Given the description of an element on the screen output the (x, y) to click on. 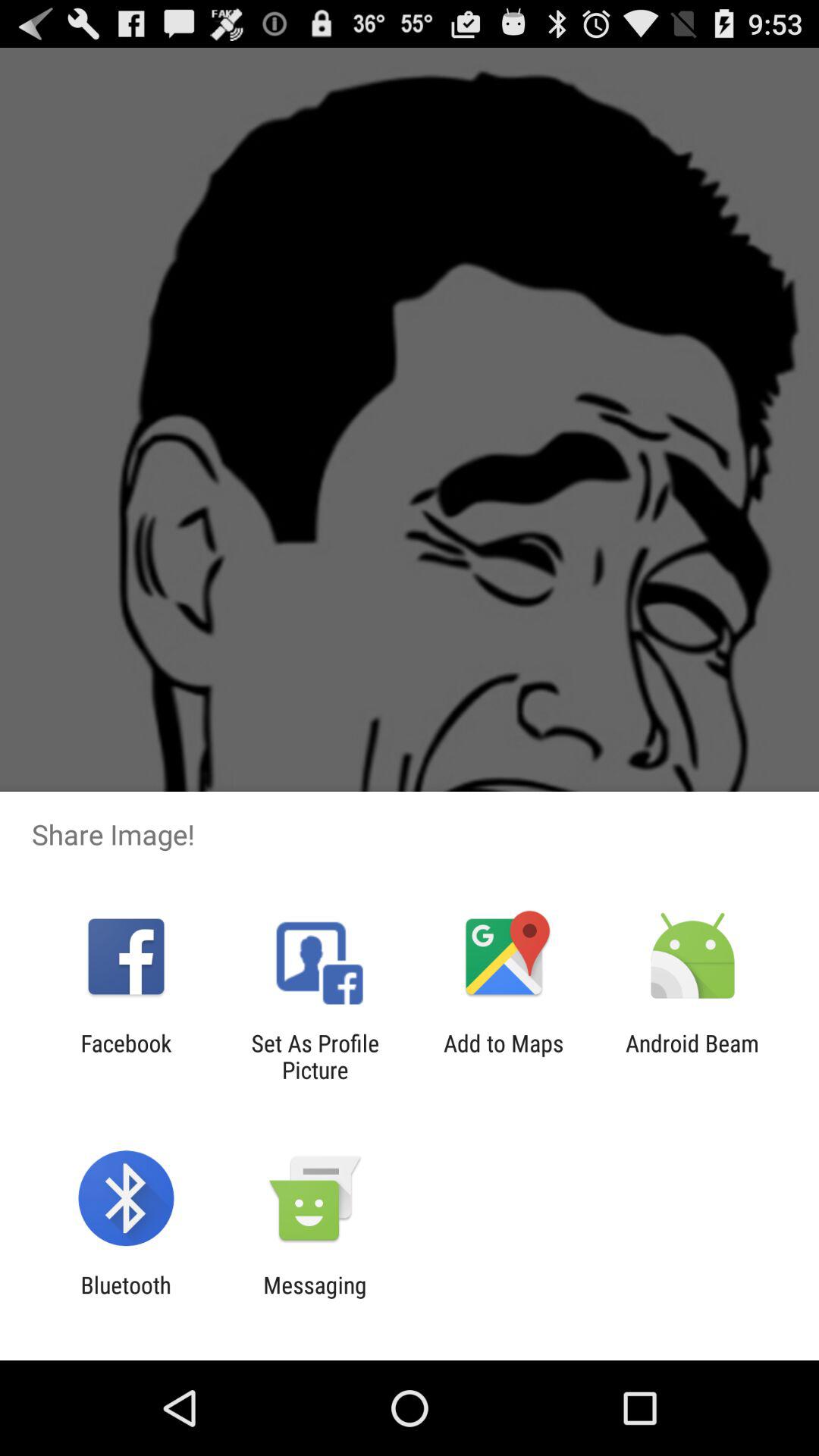
turn off the item next to set as profile app (125, 1056)
